Given the description of an element on the screen output the (x, y) to click on. 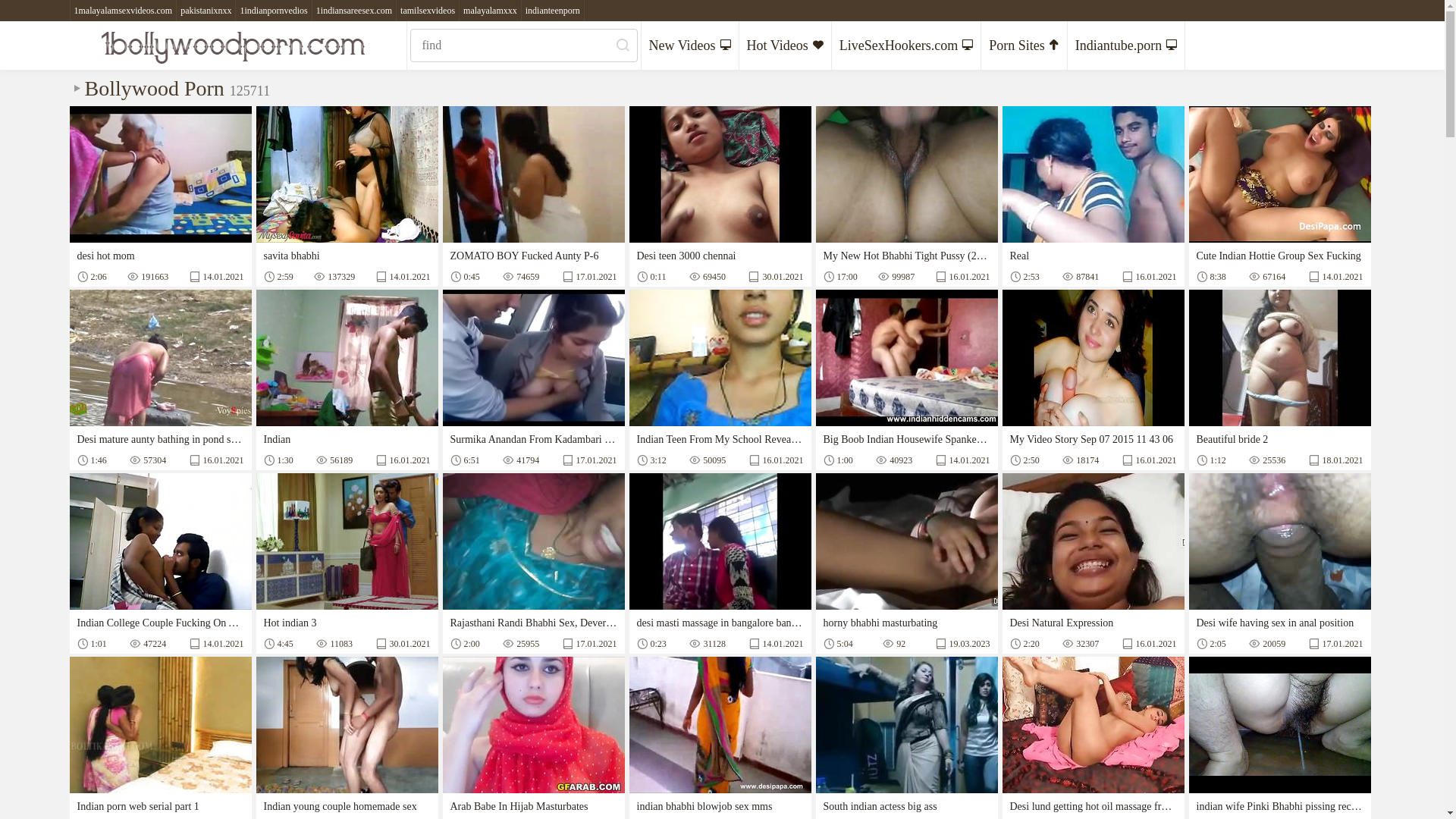
Beautiful bride 2
1:12
25536
18.01.2021 Element type: text (1280, 379)
Indiantube.porn Element type: text (1126, 45)
Desi wife having sex in anal position
2:05
20059
17.01.2021 Element type: text (1280, 563)
Desi teen 3000 chennai
0:11
69450
30.01.2021 Element type: text (720, 196)
Porn Sites Element type: text (1024, 45)
My Video Story Sep 07 2015 11 43 06
2:50
18174
16.01.2021 Element type: text (1093, 379)
tamilsexvideos Element type: text (427, 10)
desi hot mom
2:06
191663
14.01.2021 Element type: text (160, 196)
ZOMATO BOY Fucked Aunty P-6
0:45
74659
17.01.2021 Element type: text (533, 196)
My New Hot Bhabhi Tight Pussy (2020)
17:00
99987
16.01.2021 Element type: text (906, 196)
indianteenporn Element type: text (552, 10)
Desi Natural Expression
2:20
32307
16.01.2021 Element type: text (1093, 563)
pakistanixnxx Element type: text (205, 10)
Cute Indian Hottie Group Sex Fucking
8:38
67164
14.01.2021 Element type: text (1280, 196)
Hot indian 3
4:45
11083
30.01.2021 Element type: text (347, 563)
Indian
1:30
56189
16.01.2021 Element type: text (347, 379)
New Videos Element type: text (690, 45)
LiveSexHookers.com Element type: text (906, 45)
savita bhabhi
2:59
137329
14.01.2021 Element type: text (347, 196)
1malayalamsexvideos.com Element type: text (122, 10)
1indianpornvedios Element type: text (273, 10)
Hot Videos Element type: text (785, 45)
horny bhabhi masturbating
5:04
92
19.03.2023 Element type: text (906, 563)
Real
2:53
87841
16.01.2021 Element type: text (1093, 196)
malayalamxxx Element type: text (490, 10)
1indiansareesex.com Element type: text (354, 10)
